Given the description of an element on the screen output the (x, y) to click on. 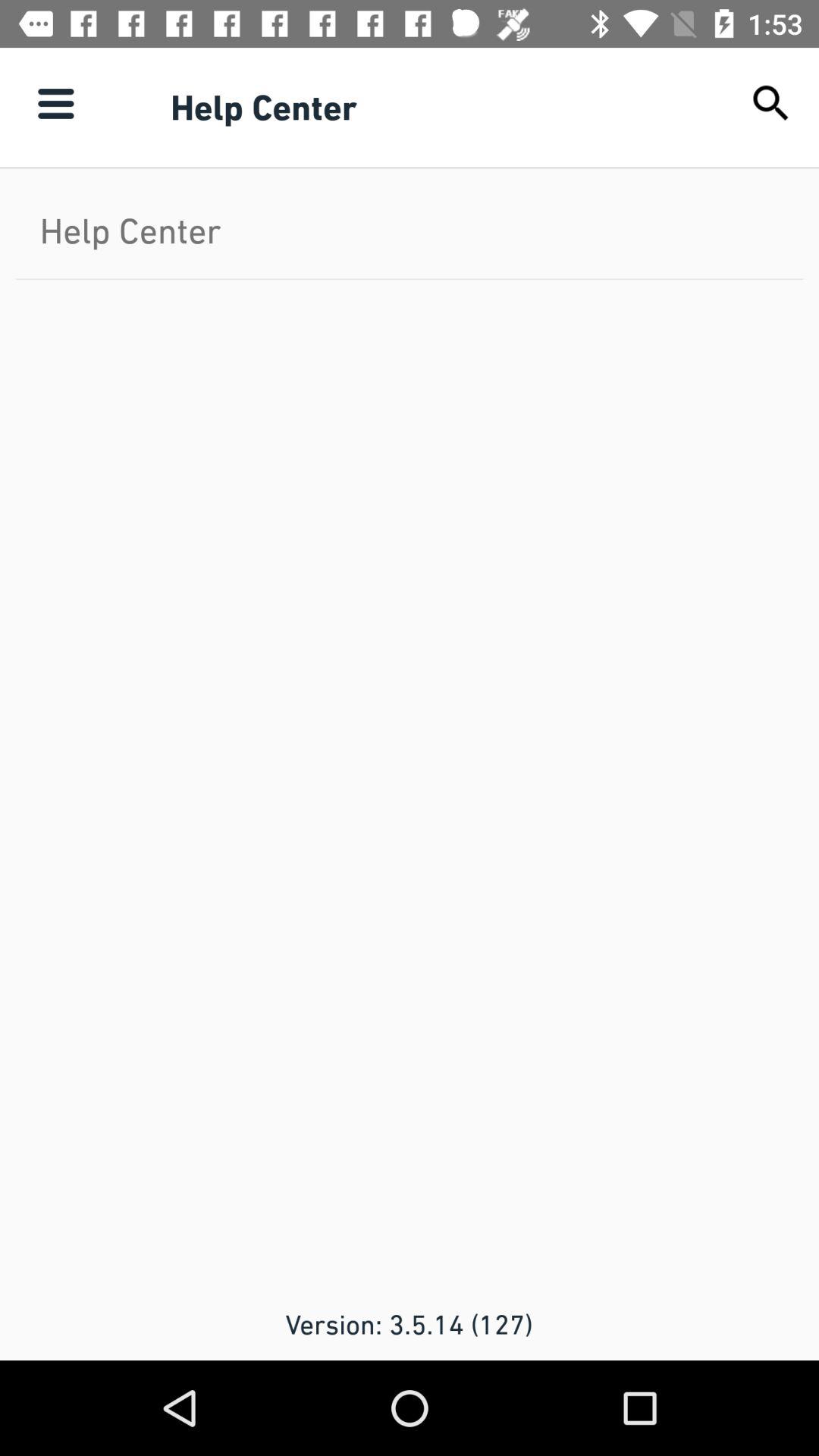
open the item above the help center item (55, 103)
